Given the description of an element on the screen output the (x, y) to click on. 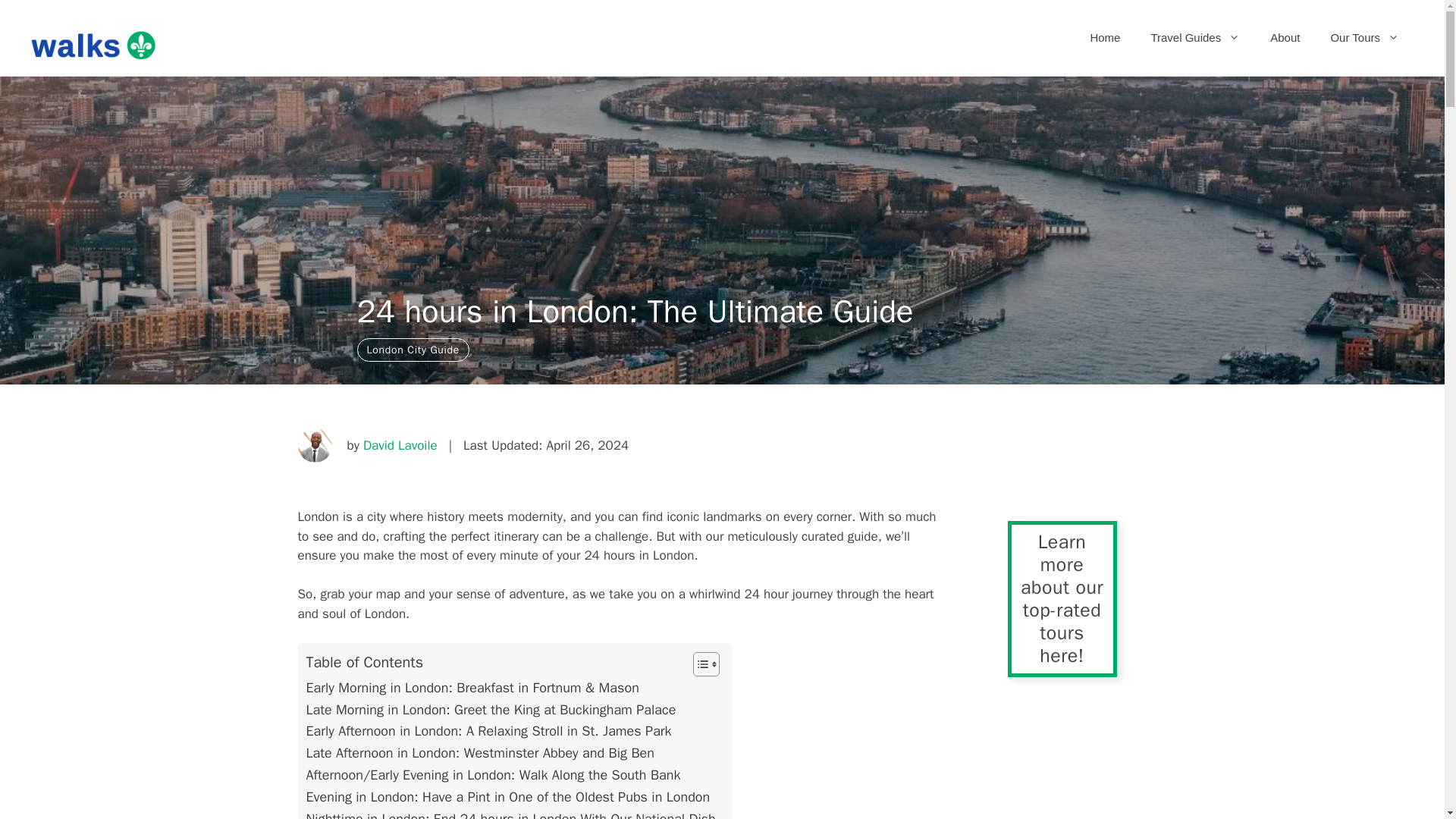
Late Afternoon in London: Westminster Abbey and Big Ben (479, 753)
Home (1104, 37)
Late Morning in London: Greet the King at Buckingham Palace (491, 710)
Our Tours (1363, 37)
About (1284, 37)
Travel Guides (1195, 37)
